Given the description of an element on the screen output the (x, y) to click on. 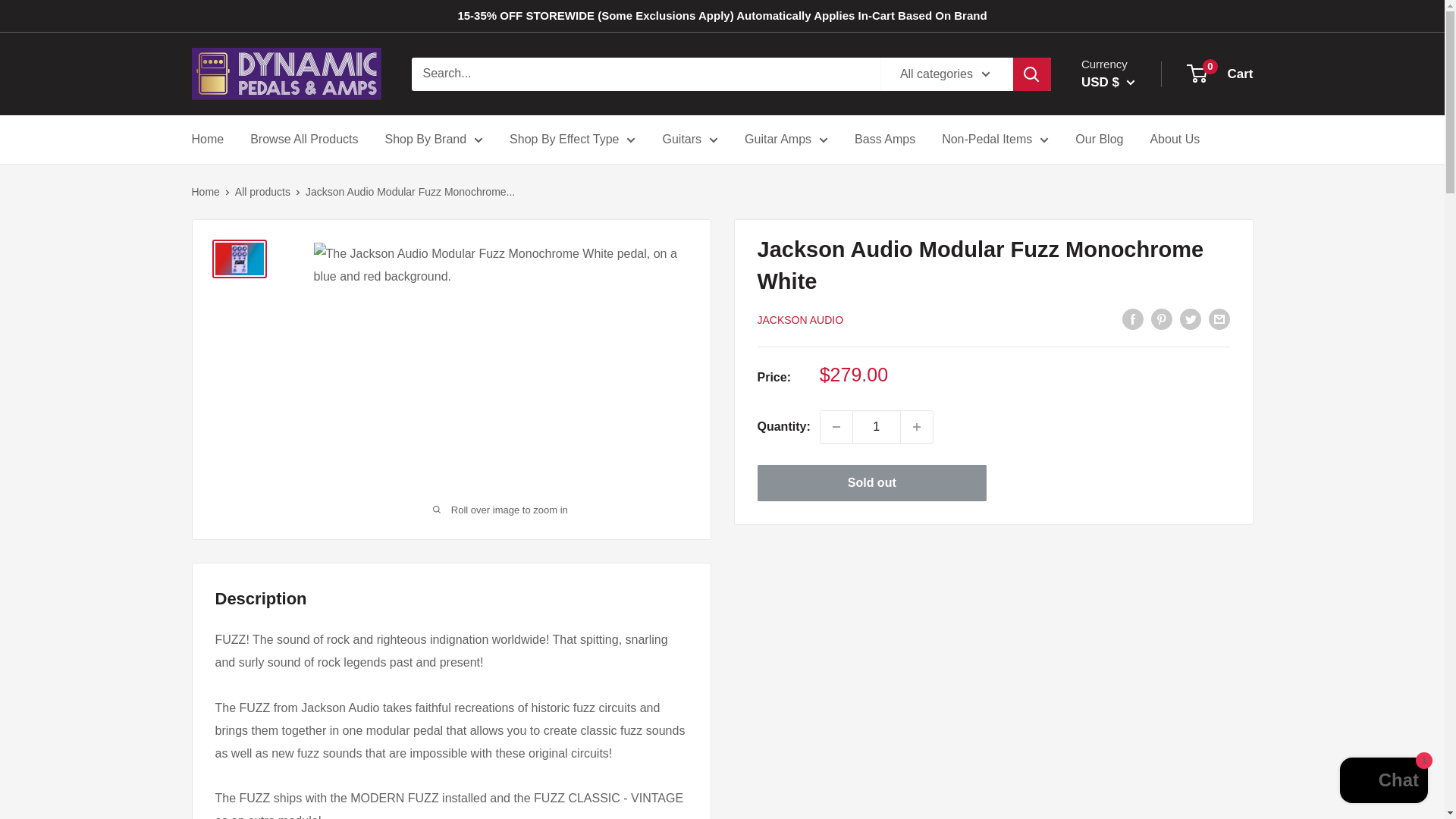
1 (876, 427)
Decrease quantity by 1 (836, 427)
Increase quantity by 1 (917, 427)
Shopify online store chat (1383, 781)
